Given the description of an element on the screen output the (x, y) to click on. 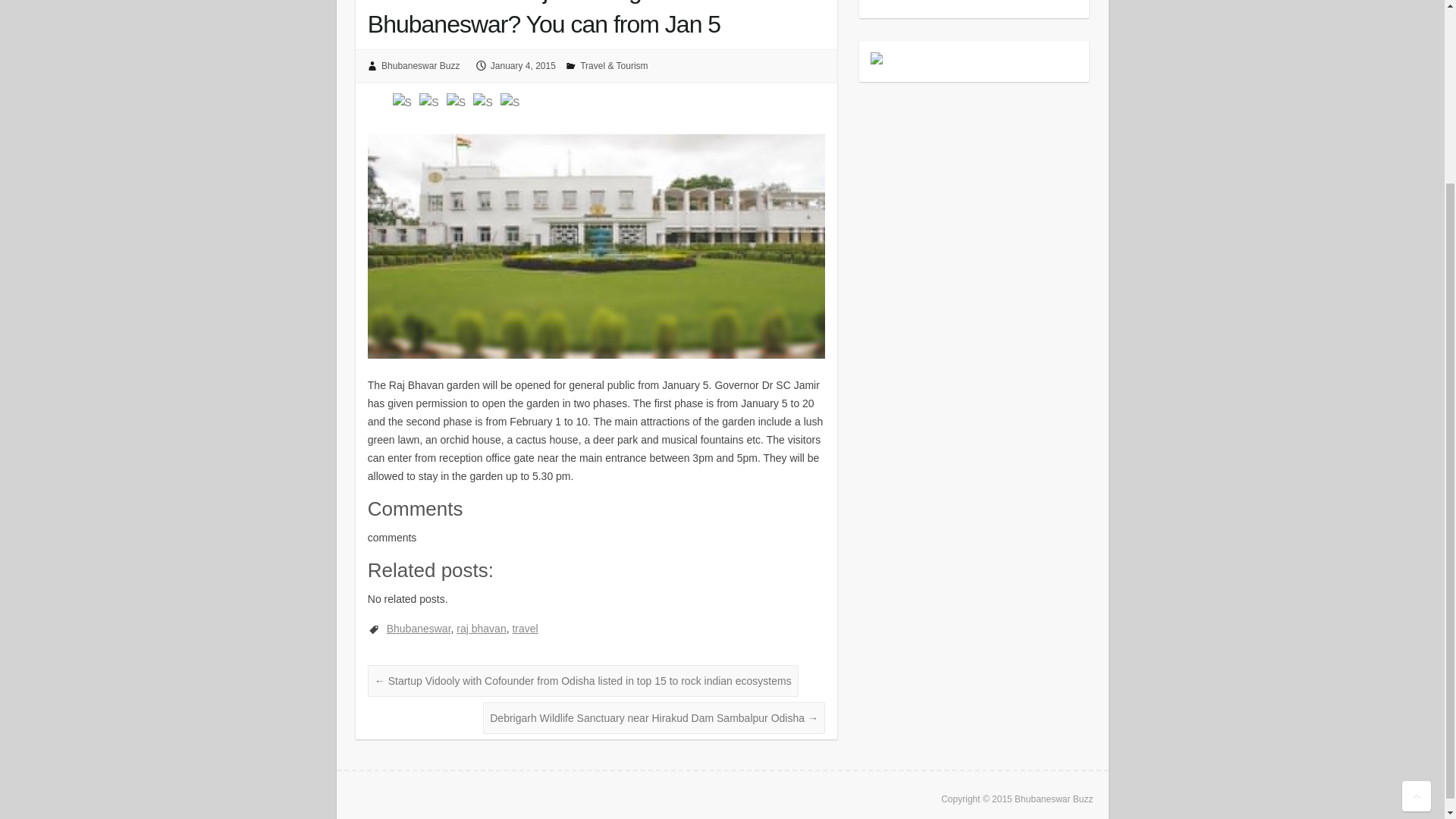
Share via Facebook (403, 102)
Bhubaneswar Buzz (420, 65)
Share via Pinterest (511, 102)
Share via Google (430, 102)
Share via Twitter (457, 102)
5:09 am (523, 65)
Bhubaneswar (419, 628)
Share via Email (484, 102)
January 4, 2015 (523, 65)
